Given the description of an element on the screen output the (x, y) to click on. 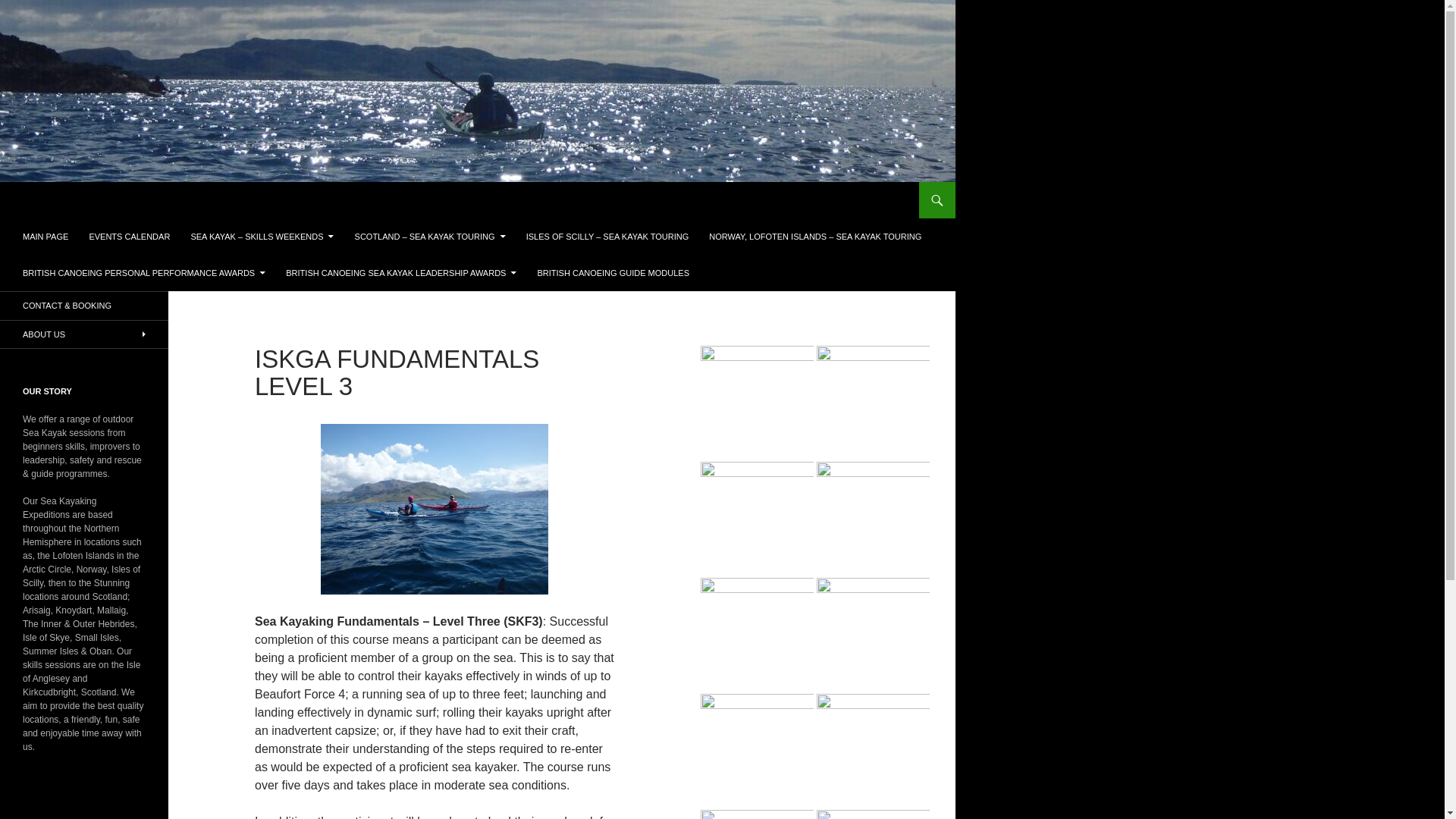
BRITISH CANOEING PERSONAL PERFORMANCE AWARDS (144, 272)
MAIN PAGE (45, 236)
EVENTS CALENDAR (129, 236)
Greene Adventures (85, 199)
BRITISH CANOEING SEA KAYAK LEADERSHIP AWARDS (400, 272)
BRITISH CANOEING GUIDE MODULES (612, 272)
